Given the description of an element on the screen output the (x, y) to click on. 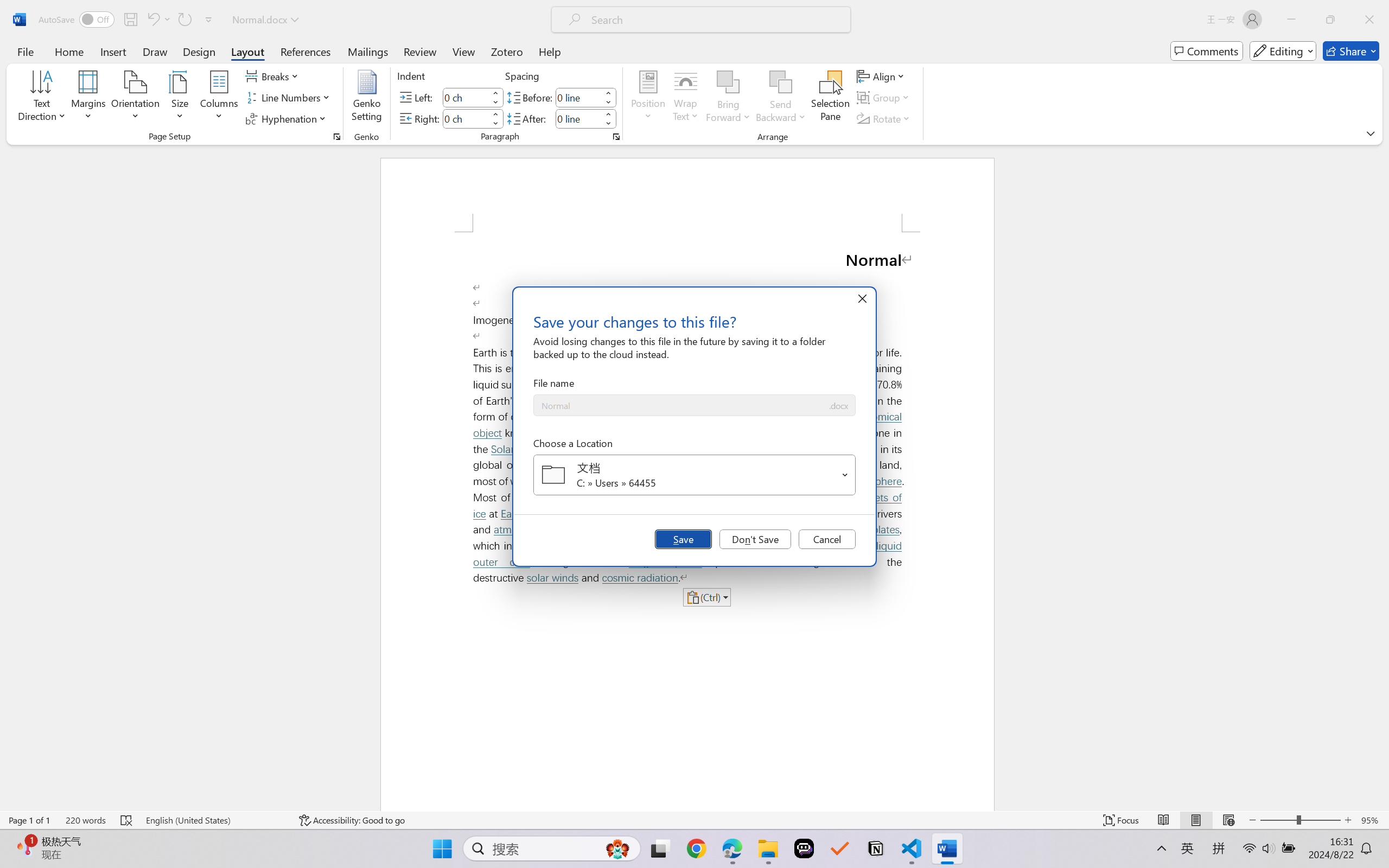
Hyphenation (287, 118)
